Given the description of an element on the screen output the (x, y) to click on. 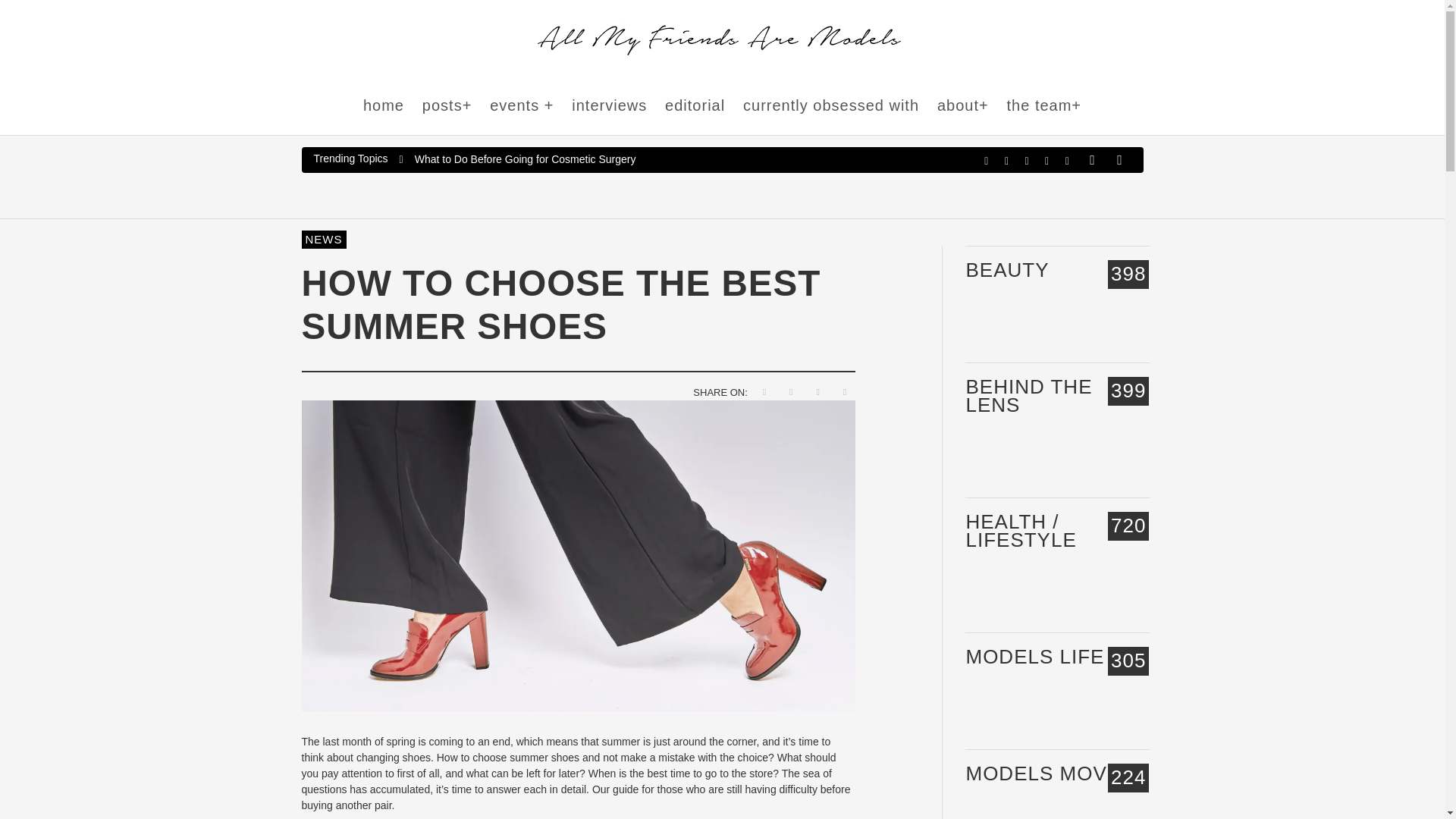
home (383, 105)
interviews (608, 105)
